Given the description of an element on the screen output the (x, y) to click on. 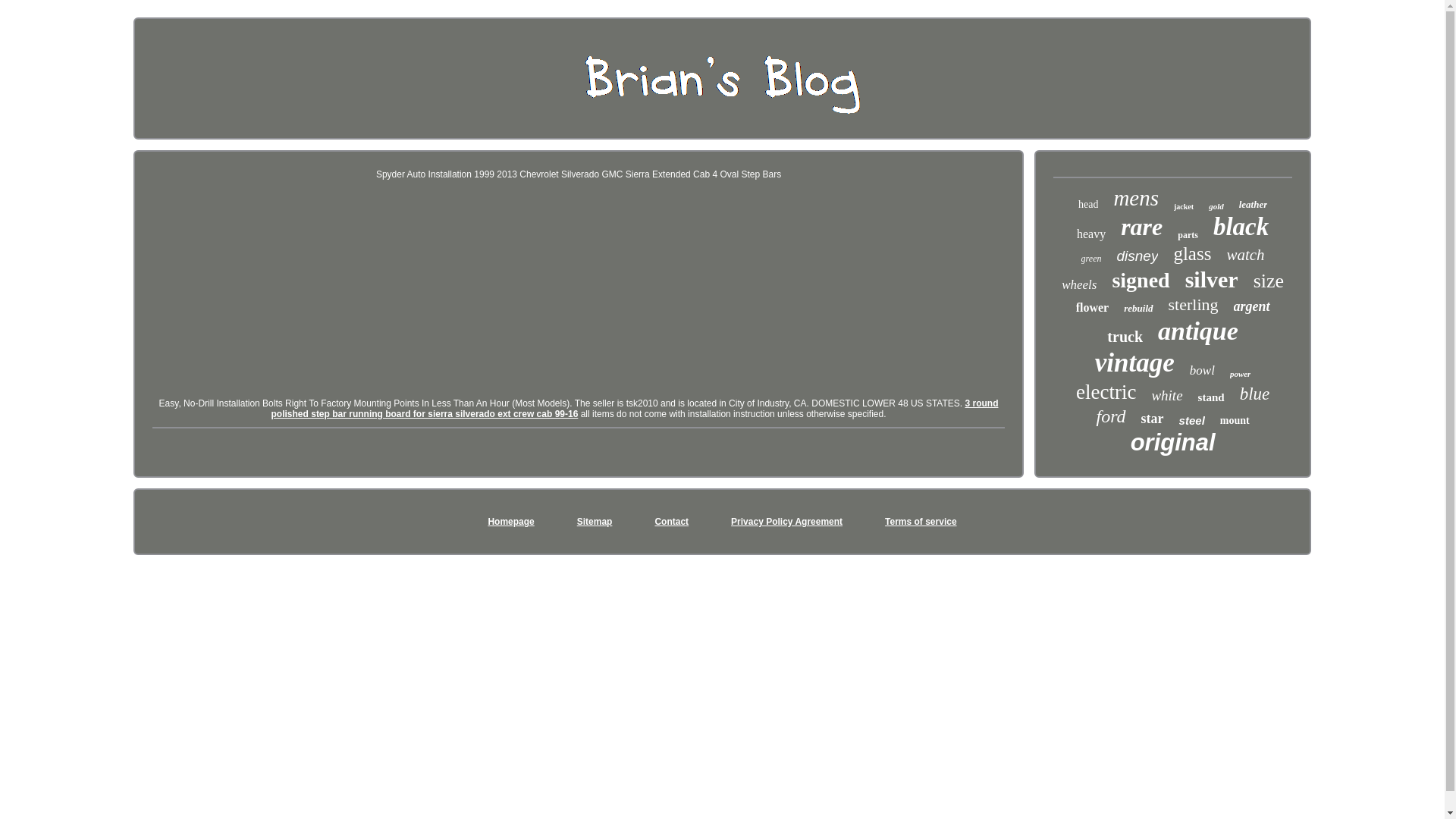
jacket (1183, 206)
electric (1105, 392)
disney (1136, 256)
bowl (1201, 370)
flower (1092, 307)
rebuild (1138, 308)
sterling (1193, 304)
mens (1135, 197)
watch (1244, 254)
